Given the description of an element on the screen output the (x, y) to click on. 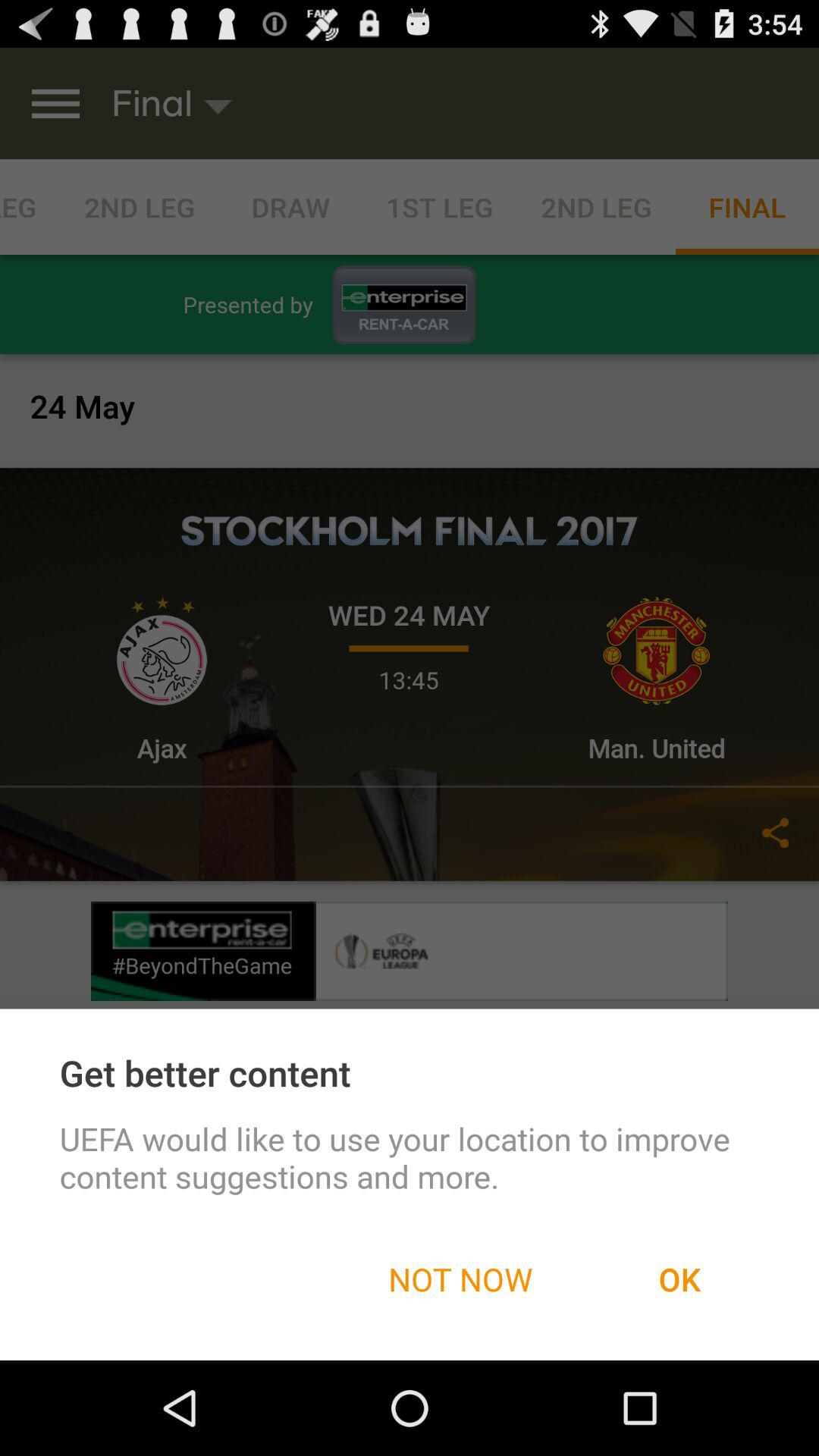
flip to not now item (460, 1278)
